Given the description of an element on the screen output the (x, y) to click on. 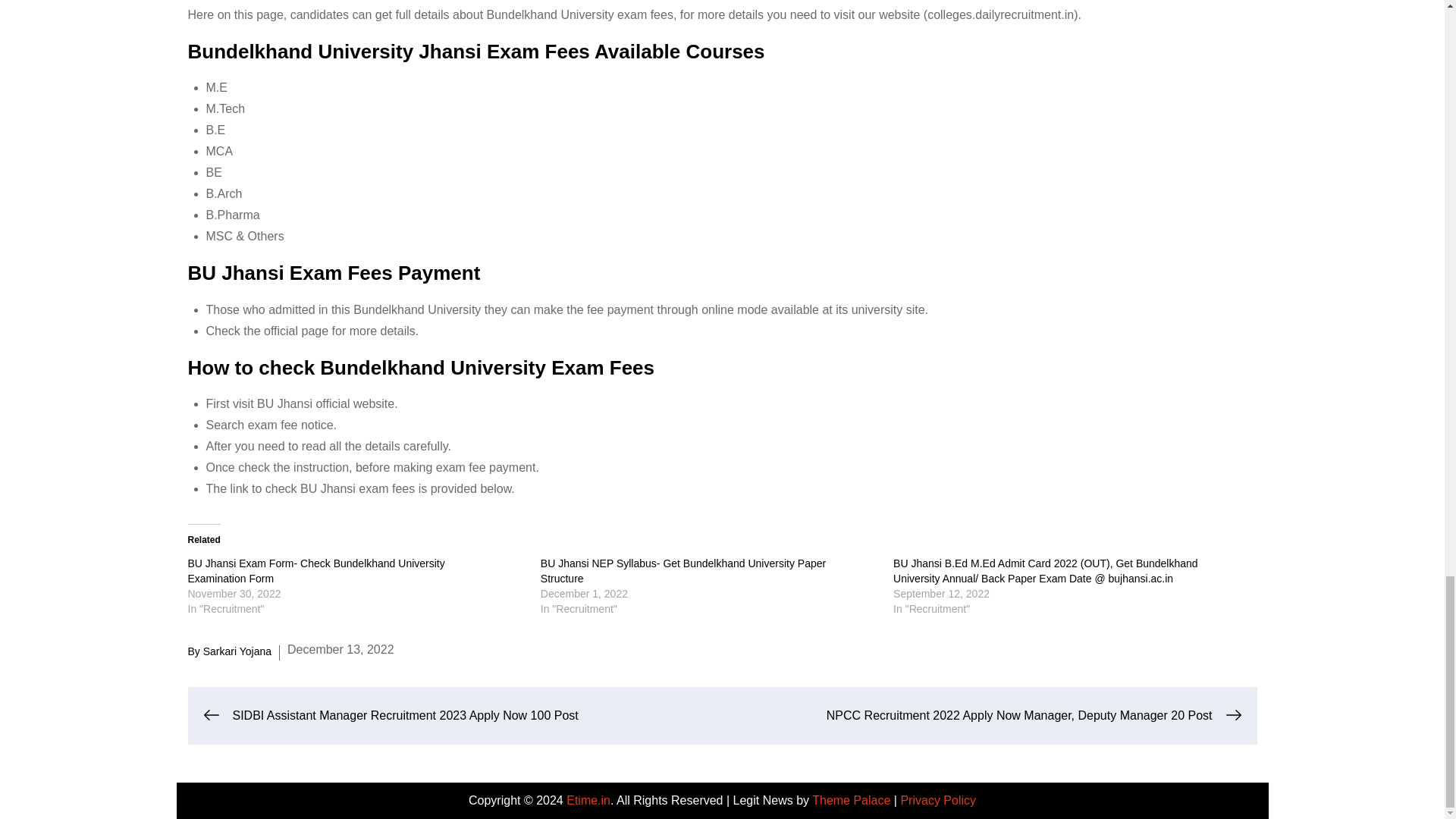
Sarkari Yojana (236, 651)
Theme Palace (850, 799)
December 13, 2022 (340, 649)
Etime.in (588, 799)
Privacy Policy (937, 799)
